Given the description of an element on the screen output the (x, y) to click on. 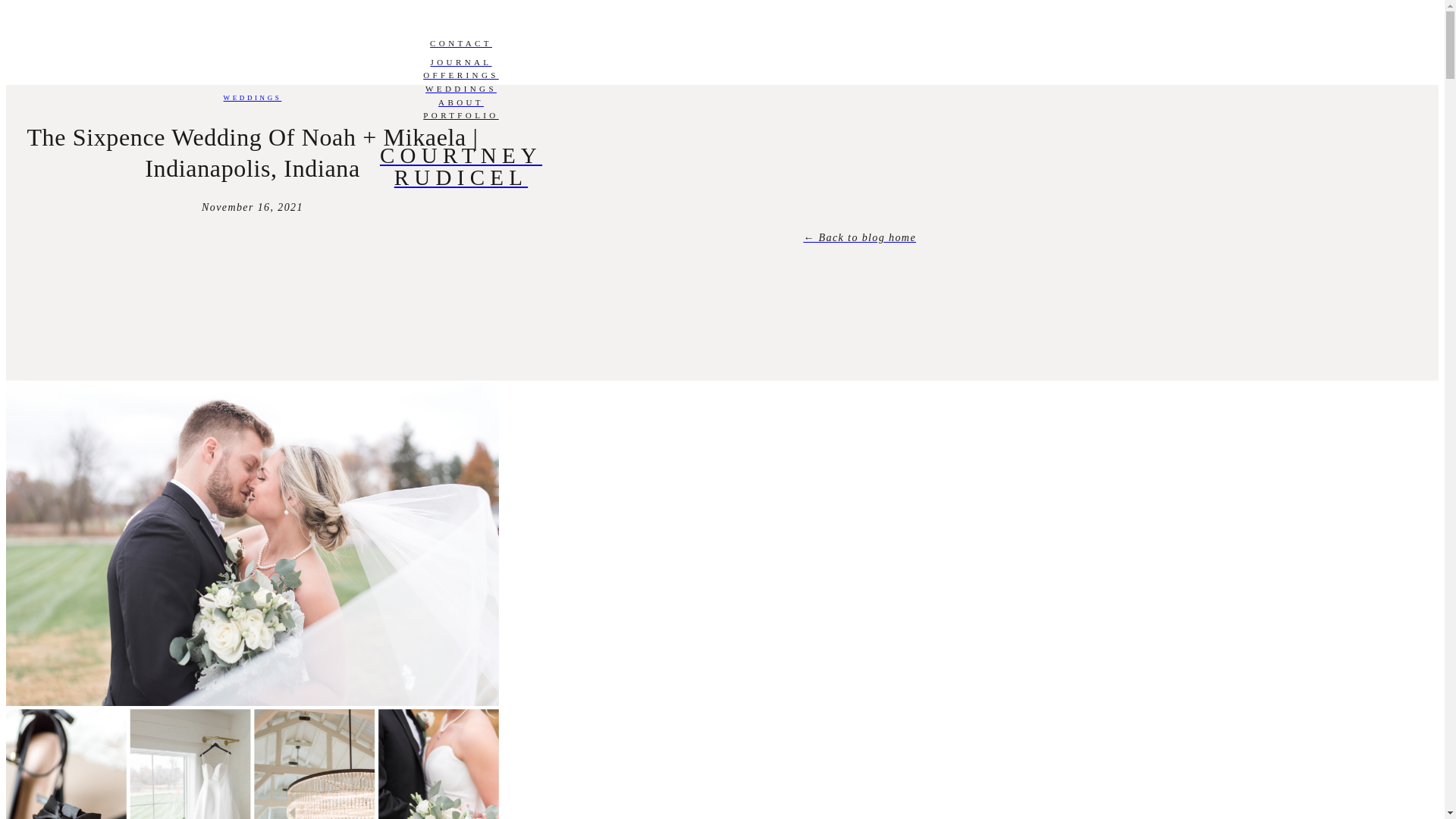
JOURNAL (460, 62)
ABOUT (460, 102)
CONTACT (460, 43)
WEDDINGS (460, 89)
WEDDINGS (460, 166)
OFFERINGS (253, 97)
PORTFOLIO (460, 75)
